Given the description of an element on the screen output the (x, y) to click on. 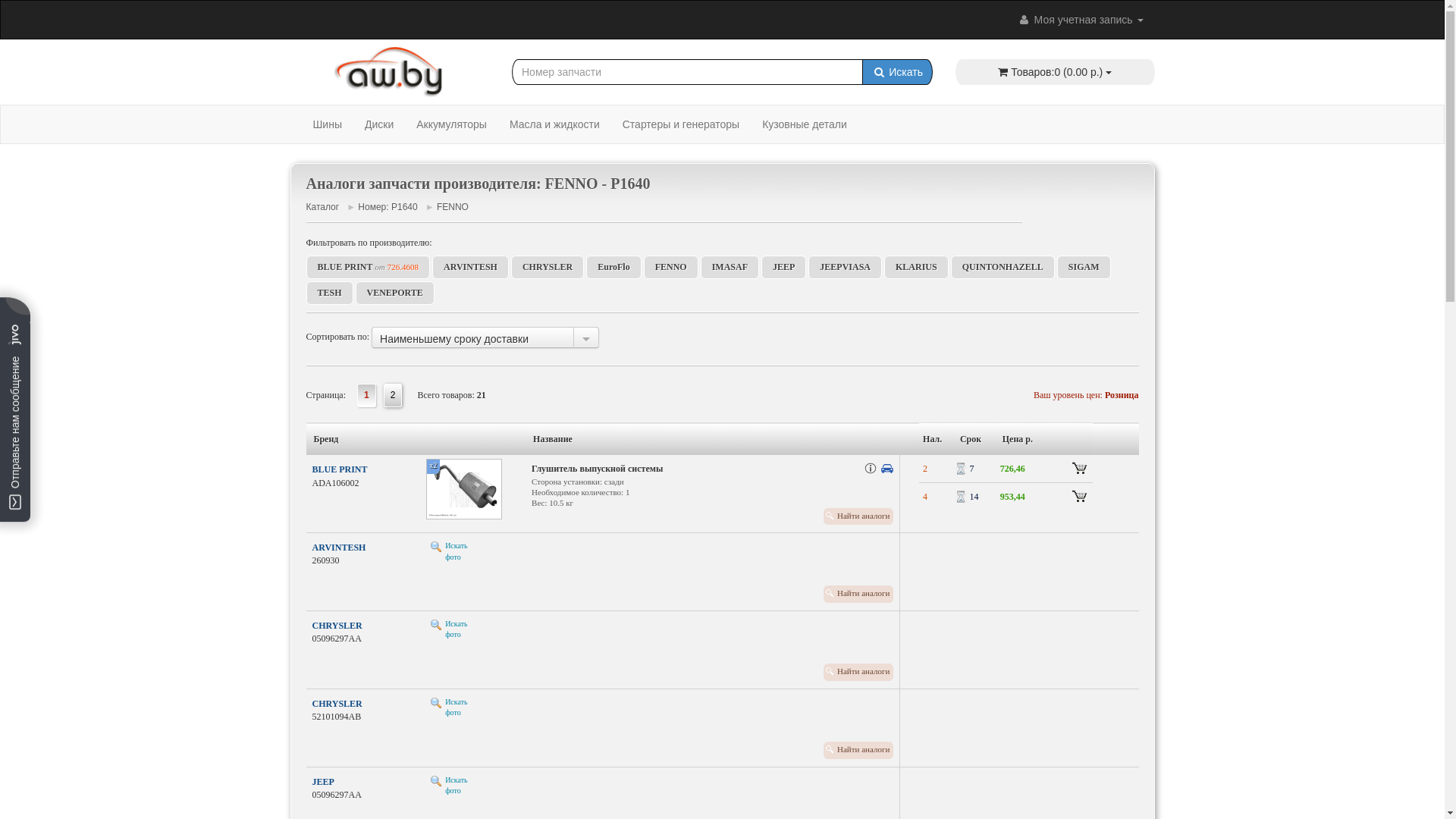
ARVINTESH Element type: text (339, 547)
CHRYSLER Element type: text (337, 703)
FENNO Element type: text (670, 267)
CHRYSLER Element type: text (547, 267)
IMASAF Element type: text (729, 267)
JEEPVIASA Element type: text (844, 267)
SIGAM Element type: text (1083, 267)
QUINTONHAZELL Element type: text (1002, 267)
ARVINTESH Element type: text (470, 267)
1 Element type: text (366, 395)
EuroFlo Element type: text (613, 267)
VENEPORTE Element type: text (394, 292)
TESH Element type: text (329, 292)
JEEP Element type: text (323, 781)
FENNO Element type: text (452, 206)
CHRYSLER Element type: text (337, 625)
BLUE PRINT Element type: text (339, 469)
x2 Element type: text (474, 488)
JEEP Element type: text (783, 267)
KLARIUS Element type: text (916, 267)
2 Element type: text (392, 395)
